Given the description of an element on the screen output the (x, y) to click on. 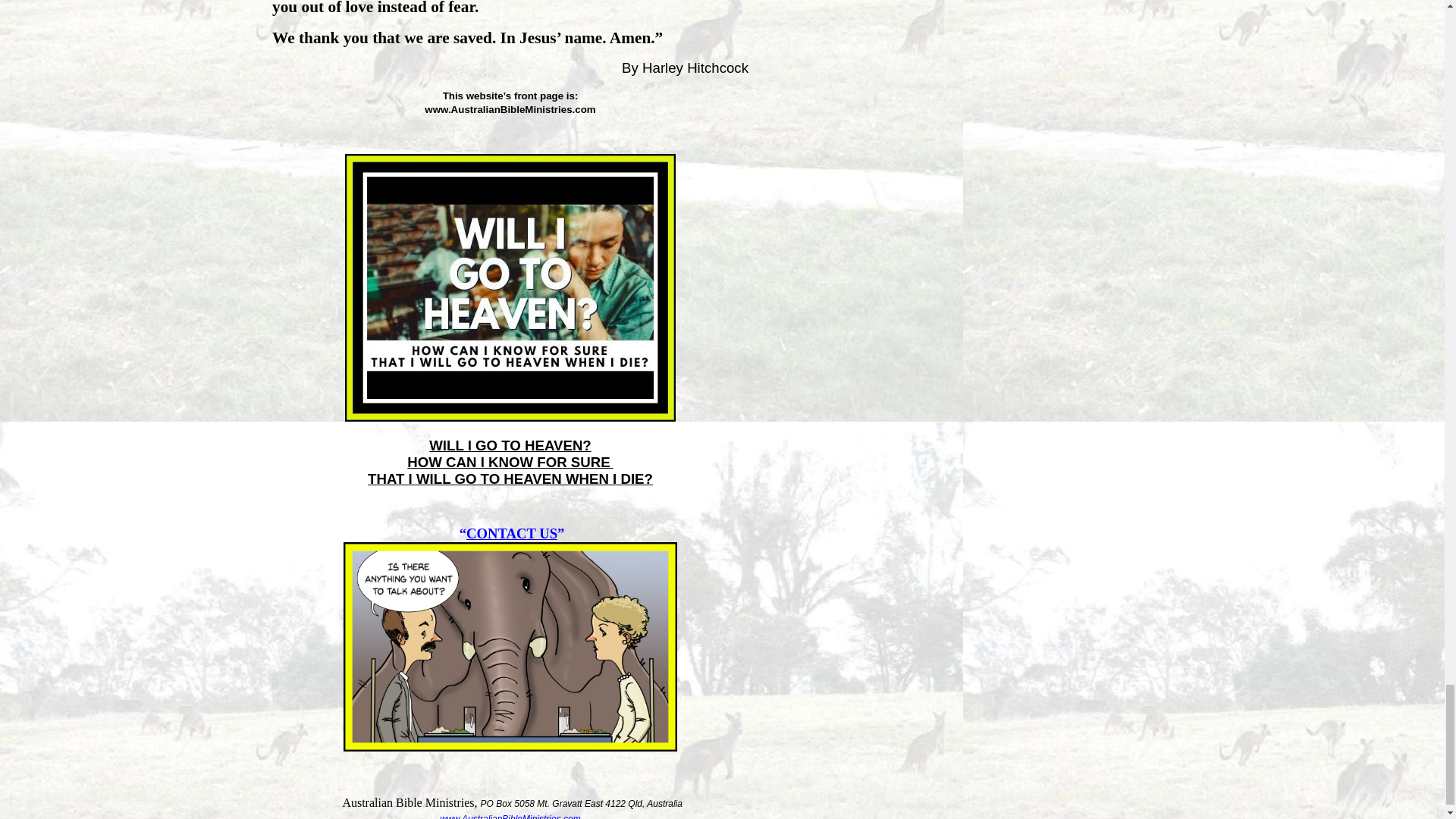
HOW CAN I KNOW FOR SURE (508, 462)
WILL I GO TO HEAVEN? (510, 445)
CONTACT US (511, 533)
THAT I WILL GO TO HEAVEN WHEN I DIE? (510, 479)
